Given the description of an element on the screen output the (x, y) to click on. 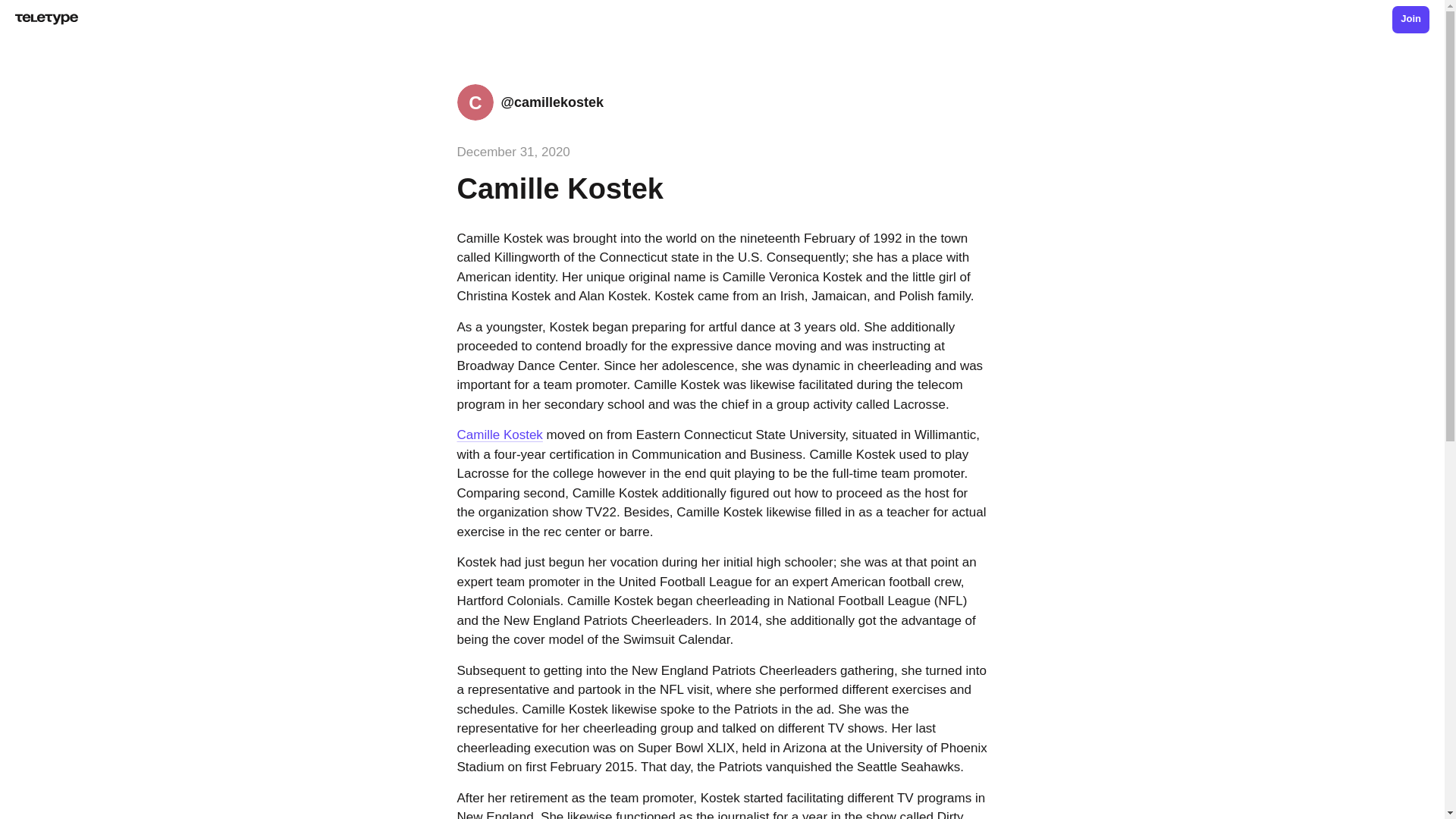
Join (1410, 19)
C (475, 102)
Camille Kostek (499, 434)
